Given the description of an element on the screen output the (x, y) to click on. 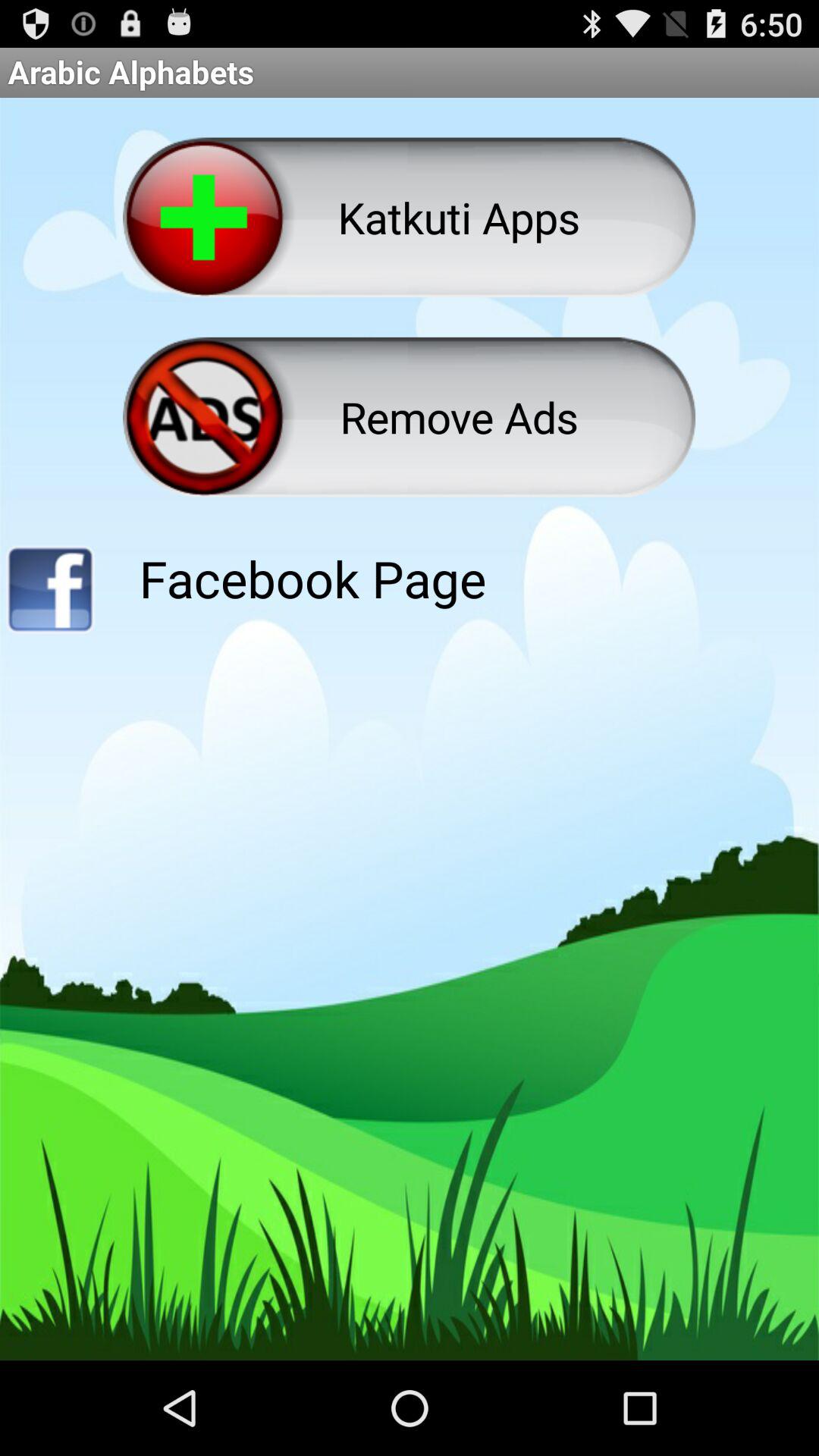
go to item (49, 594)
